Given the description of an element on the screen output the (x, y) to click on. 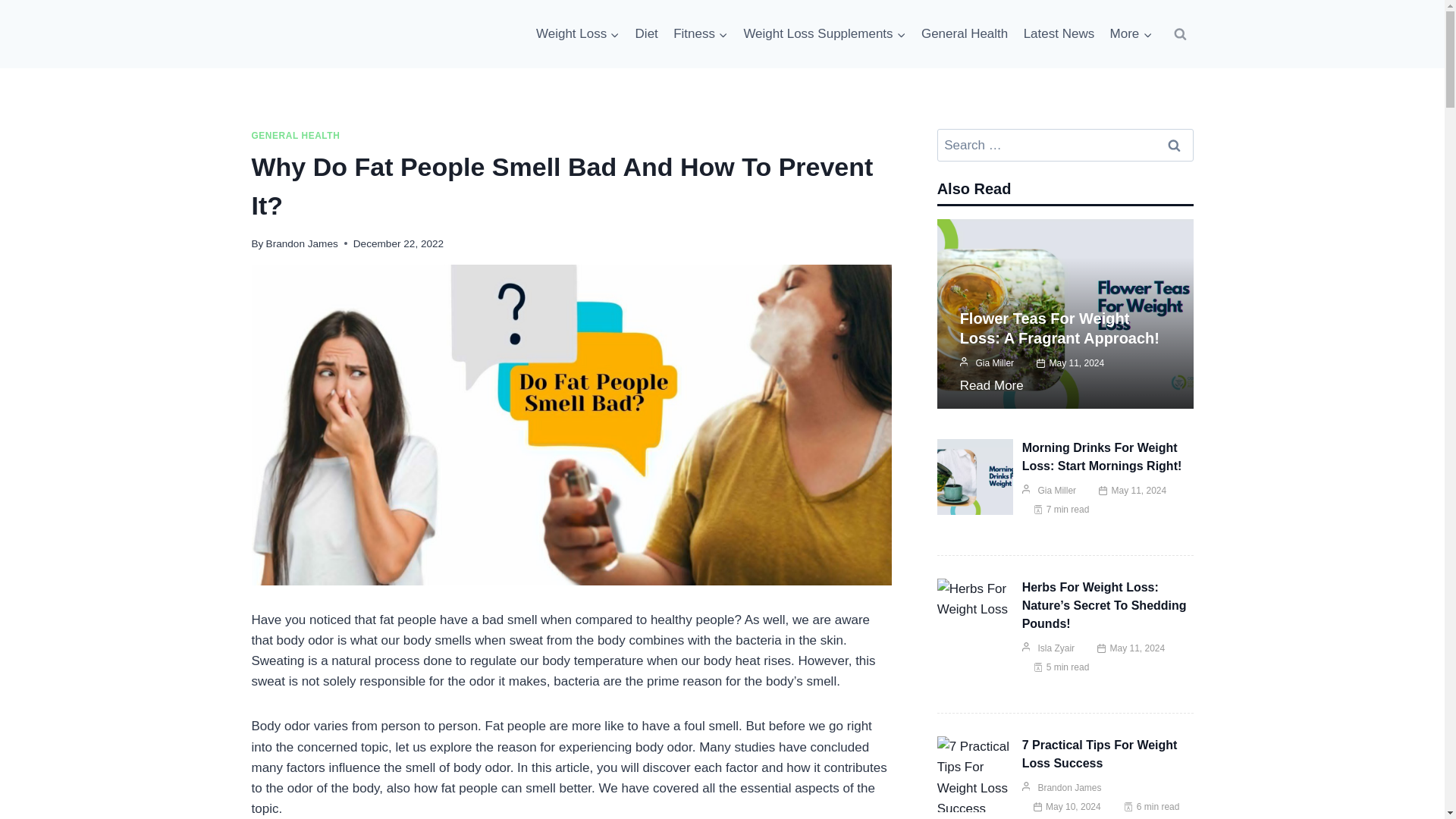
Search (1174, 144)
Latest News (1058, 33)
Brandon James (301, 243)
General Health (965, 33)
GENERAL HEALTH (295, 135)
Diet (646, 33)
More (1130, 33)
Search (1174, 144)
Weight Loss Supplements (824, 33)
Fitness (700, 33)
Weight Loss (577, 33)
